Given the description of an element on the screen output the (x, y) to click on. 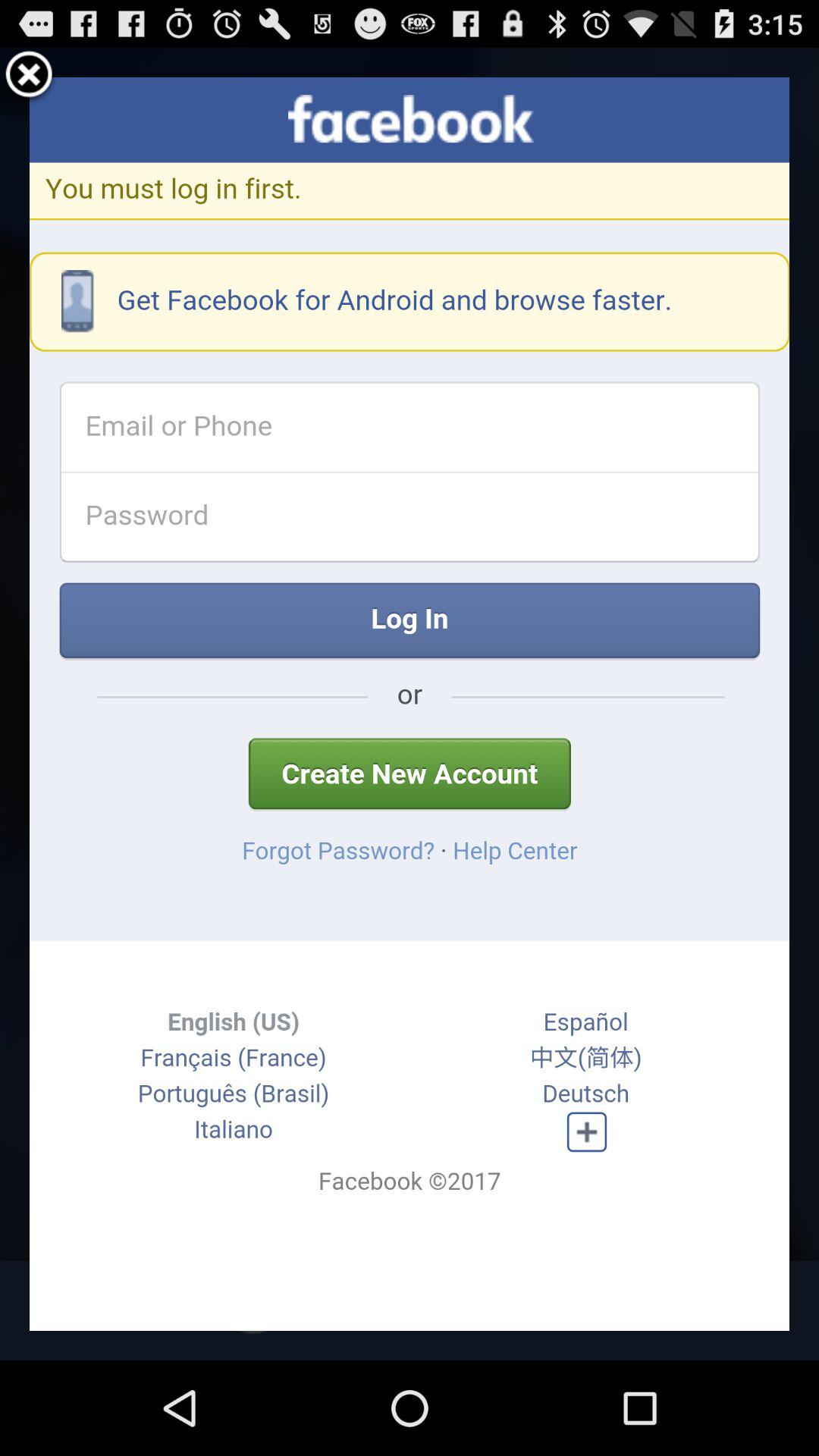
closes the app (29, 76)
